Given the description of an element on the screen output the (x, y) to click on. 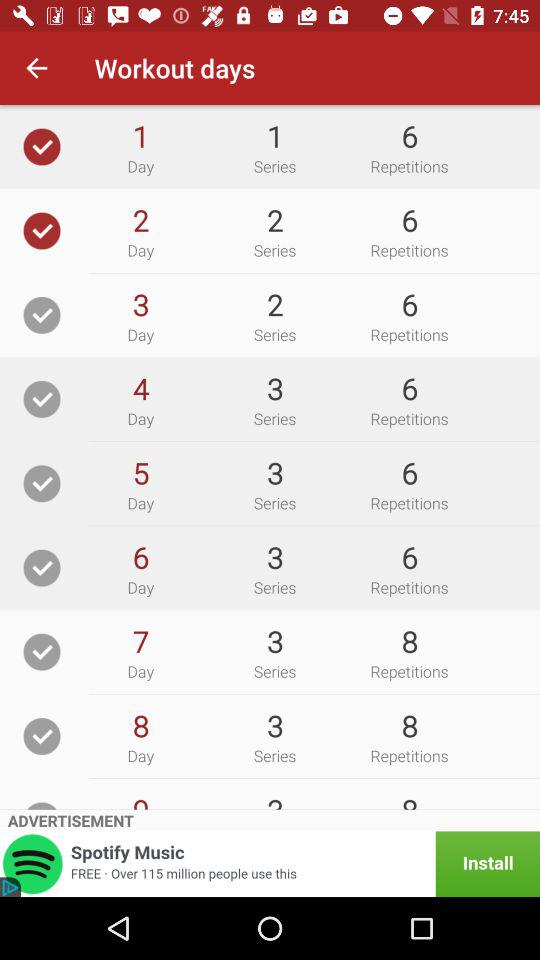
learn more about this advertisement (270, 864)
